Given the description of an element on the screen output the (x, y) to click on. 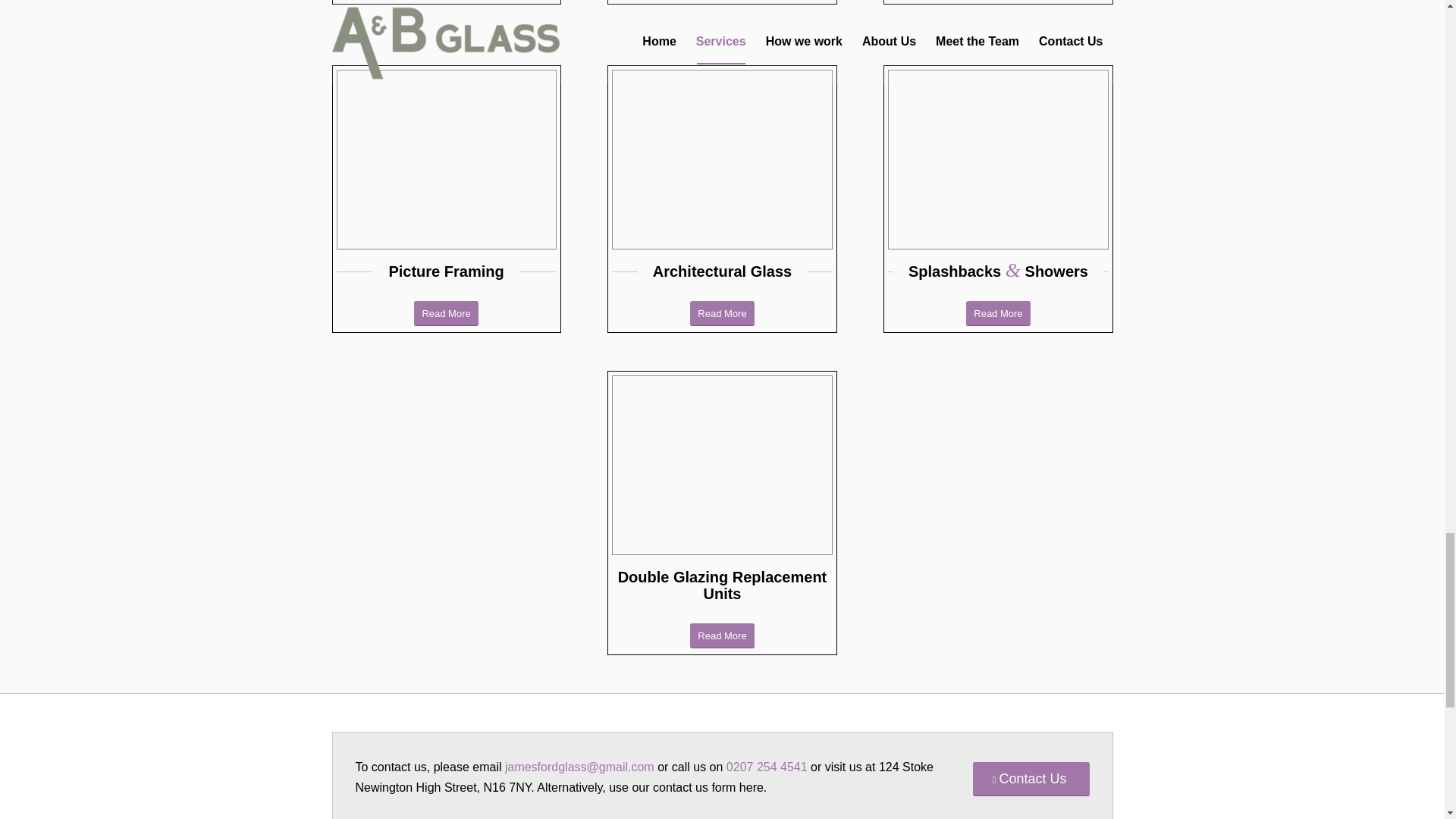
picture-framing (446, 162)
Contact Us (1030, 779)
architectural-glass (721, 162)
0207 254 4541 (767, 766)
Read More (997, 313)
Read More (445, 313)
Read More (722, 313)
Read More (722, 635)
Double glazed replacement (721, 468)
glass-splashback (998, 162)
